Given the description of an element on the screen output the (x, y) to click on. 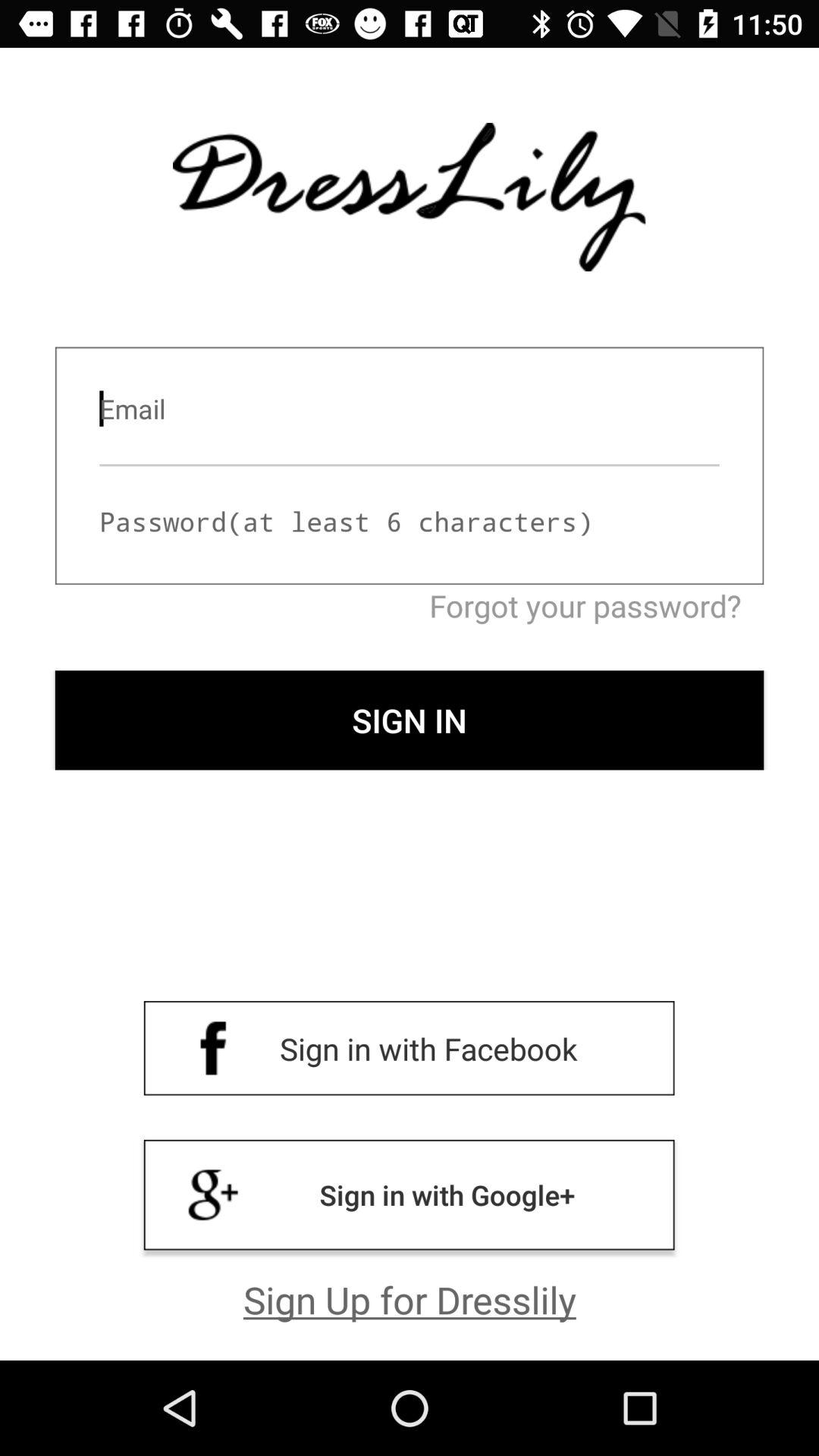
move to password input (409, 521)
